Given the description of an element on the screen output the (x, y) to click on. 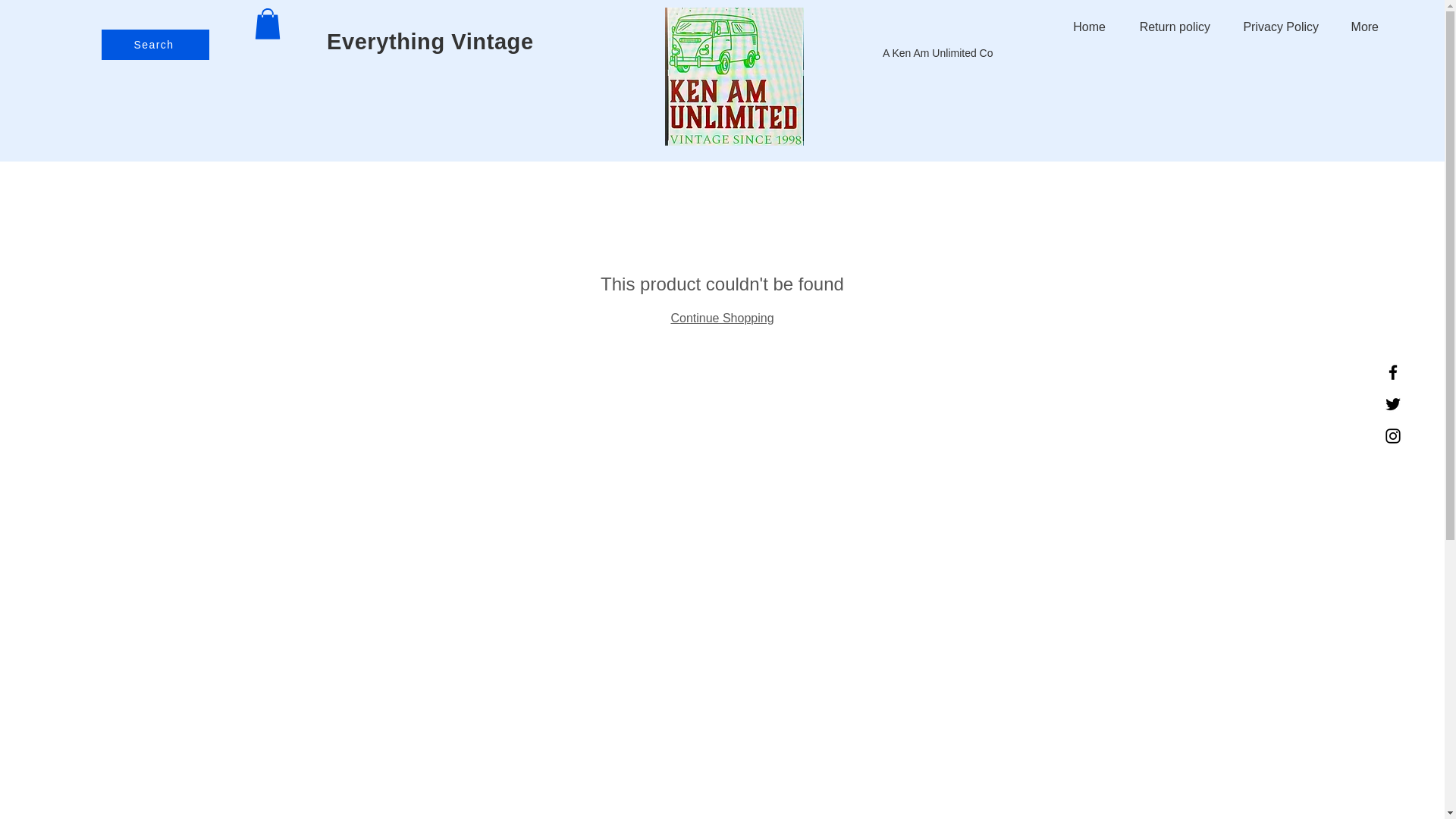
Search (155, 44)
Continue Shopping (721, 318)
Privacy Policy (1275, 26)
Everything Vintage (430, 41)
Return policy (1168, 26)
Home (1083, 26)
